Given the description of an element on the screen output the (x, y) to click on. 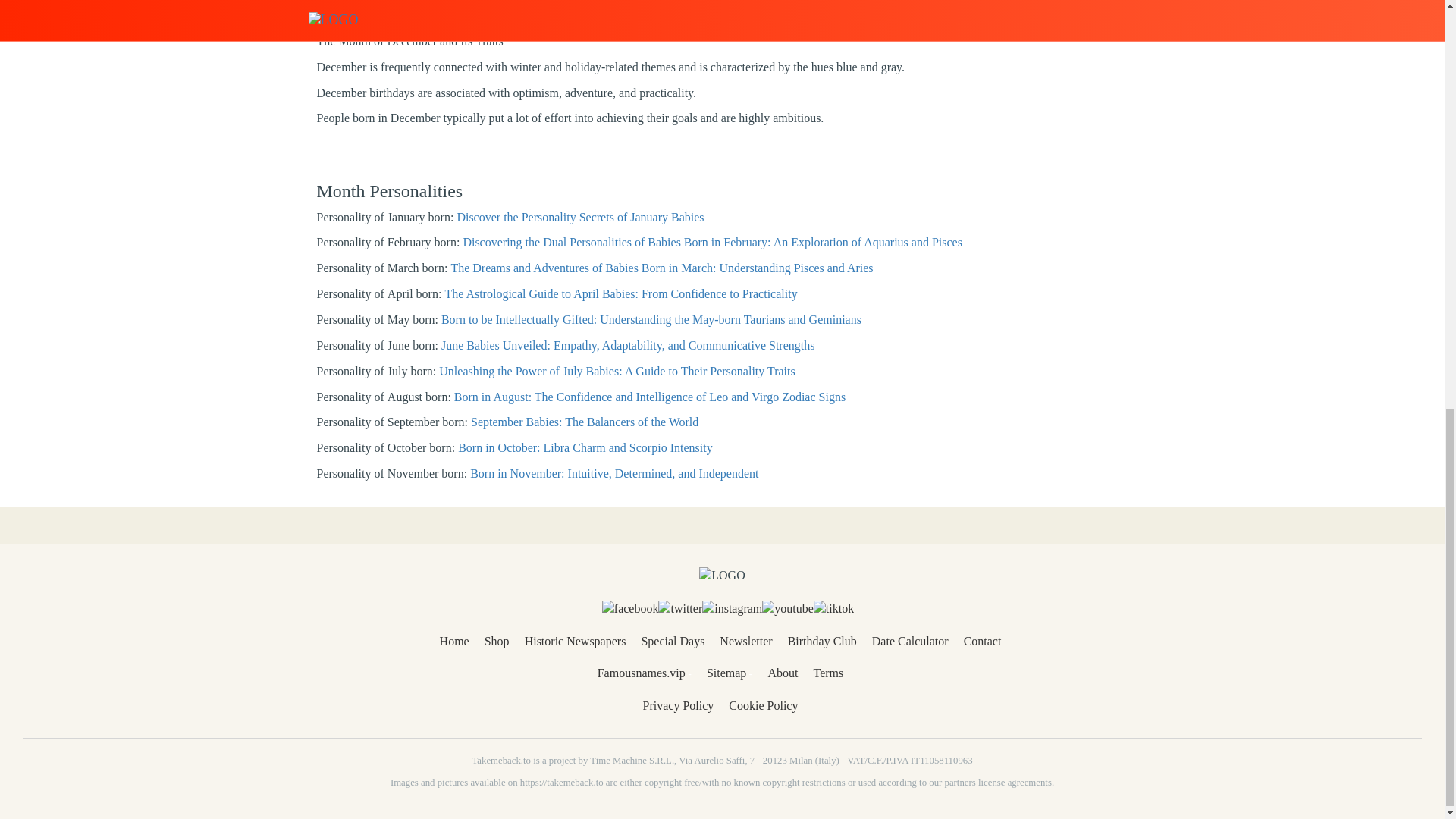
Newsletter (745, 640)
Sitemap (725, 672)
September Babies: The Balancers of the World (584, 421)
Historic Newspapers (575, 640)
Date Calculator (910, 640)
Famousnames.vip (640, 672)
Discover the Personality Secrets of January Babies (580, 216)
Cookie Policy  (763, 705)
